Given the description of an element on the screen output the (x, y) to click on. 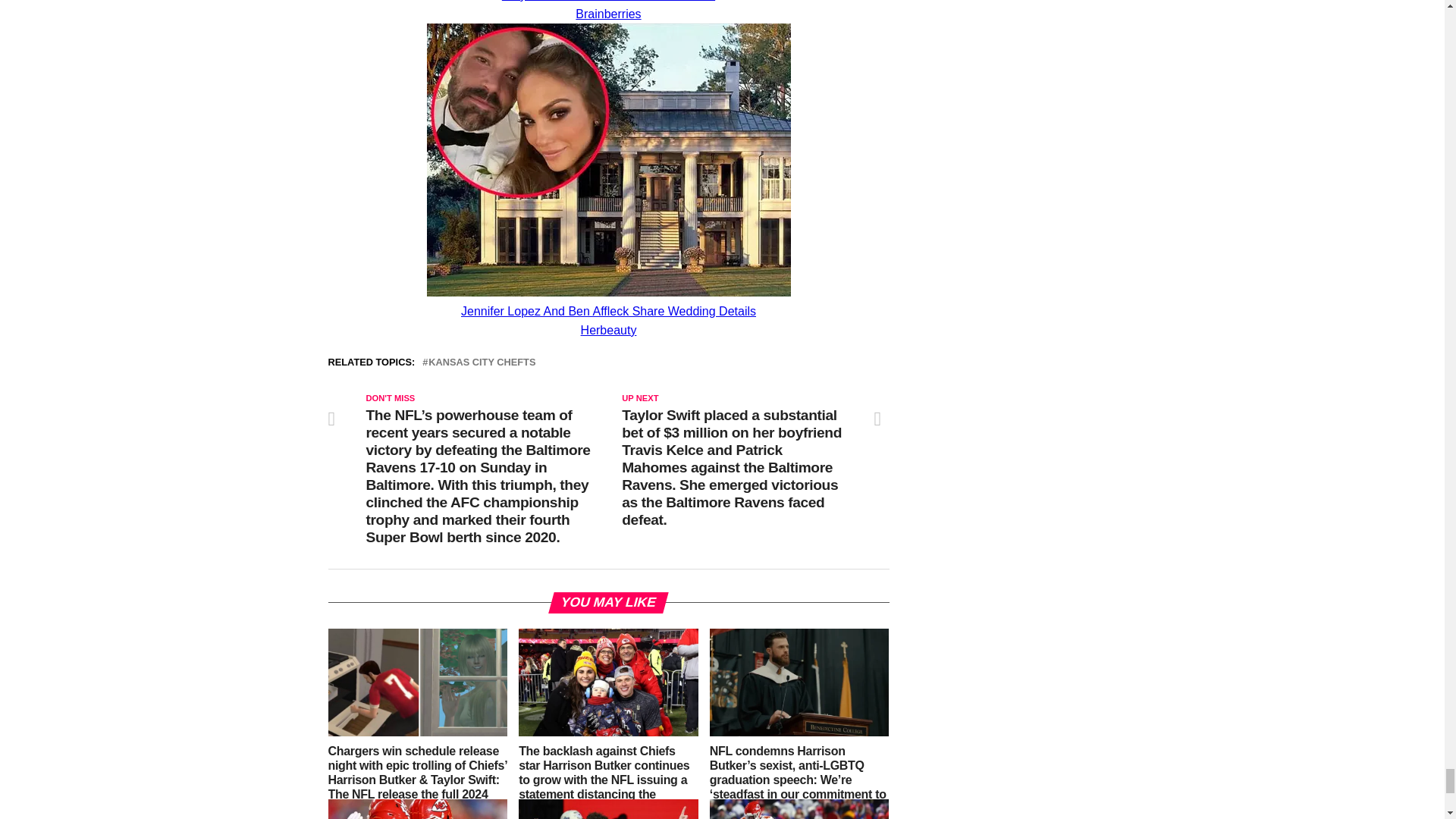
KANSAS CITY CHEFTS (481, 362)
